Given the description of an element on the screen output the (x, y) to click on. 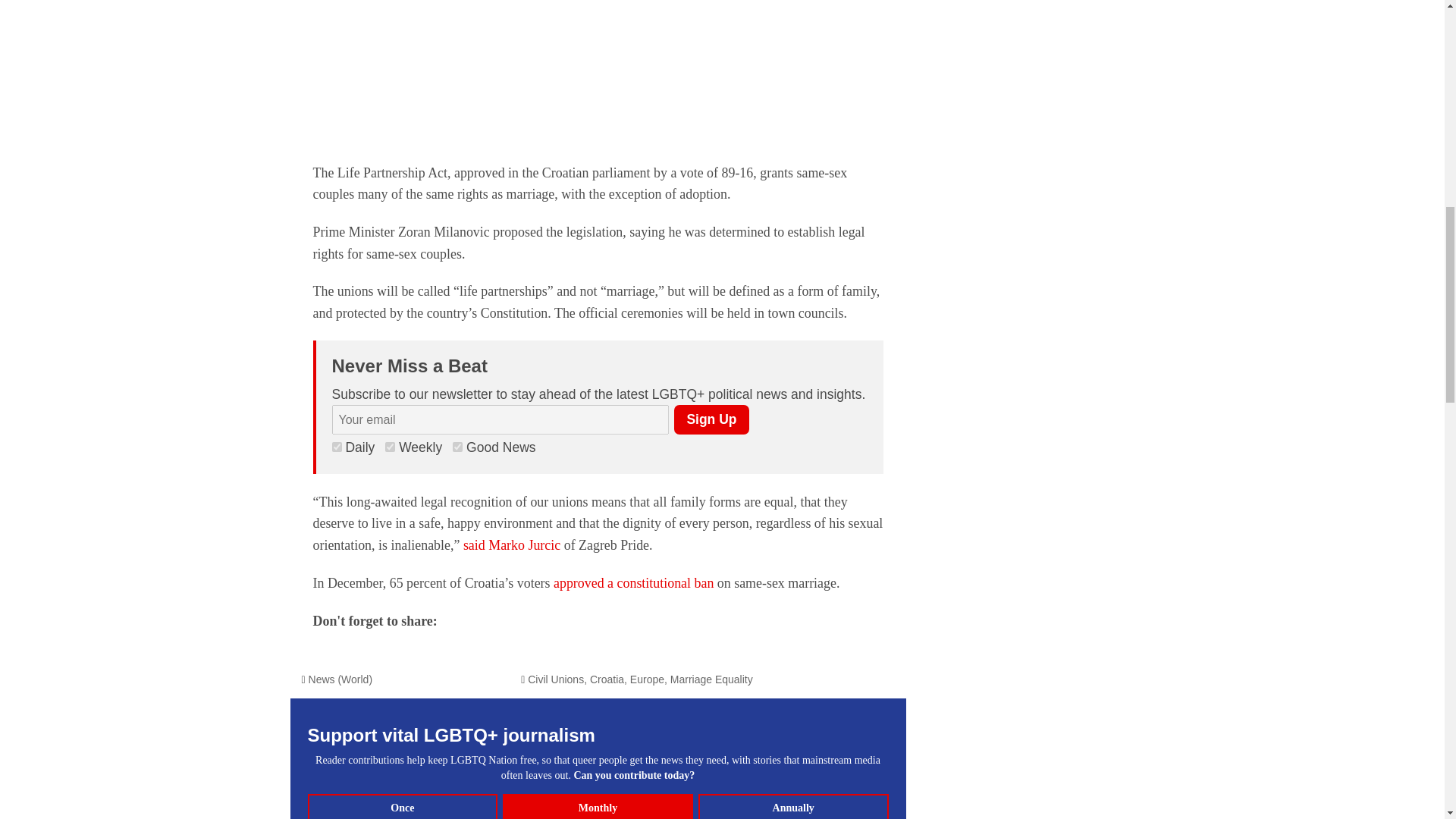
said Marko Jurcic (511, 544)
1920883 (457, 447)
approved a constitutional ban (633, 582)
Sign Up (711, 419)
1920885 (336, 447)
1920884 (389, 447)
